Given the description of an element on the screen output the (x, y) to click on. 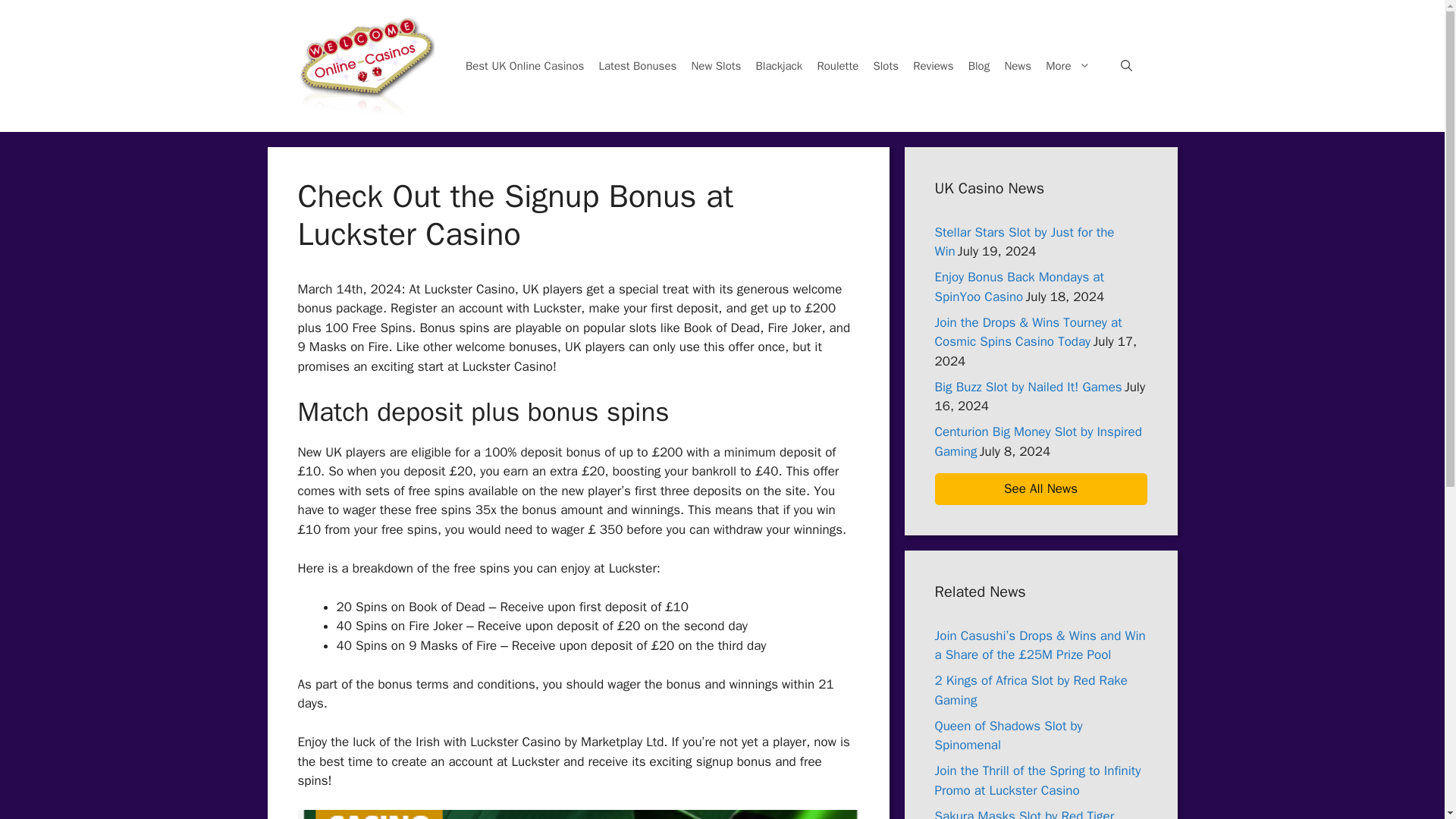
See All News (1040, 489)
Stellar Stars Slot by Just for the Win (1023, 242)
Enjoy Bonus Back Mondays at SpinYoo Casino (1018, 286)
Reviews (932, 65)
2 Kings of Africa Slot by Red Rake Gaming (1030, 690)
Latest Bonuses (637, 65)
Centurion Big Money Slot by Inspired Gaming (1037, 441)
News (1018, 65)
More (1072, 65)
Blackjack (778, 65)
Roulette (837, 65)
Big Buzz Slot by Nailed It! Games (1027, 386)
New Slots (716, 65)
Best UK Online Casinos (524, 65)
